Given the description of an element on the screen output the (x, y) to click on. 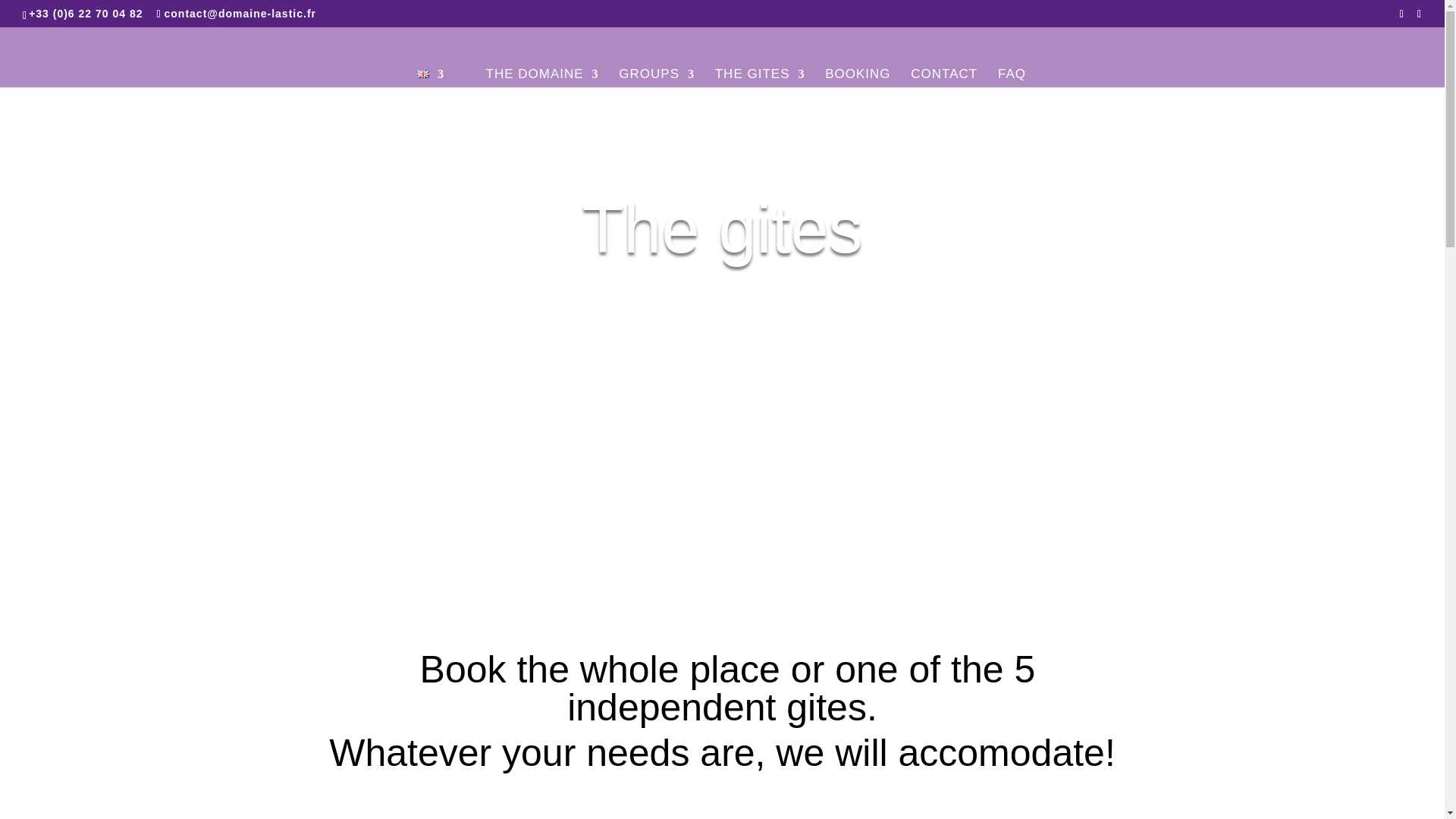
THE GITES (759, 77)
BOOKING (857, 77)
THE DOMAINE (542, 77)
CONTACT (943, 77)
GROUPS (656, 77)
FAQ (1011, 77)
